Given the description of an element on the screen output the (x, y) to click on. 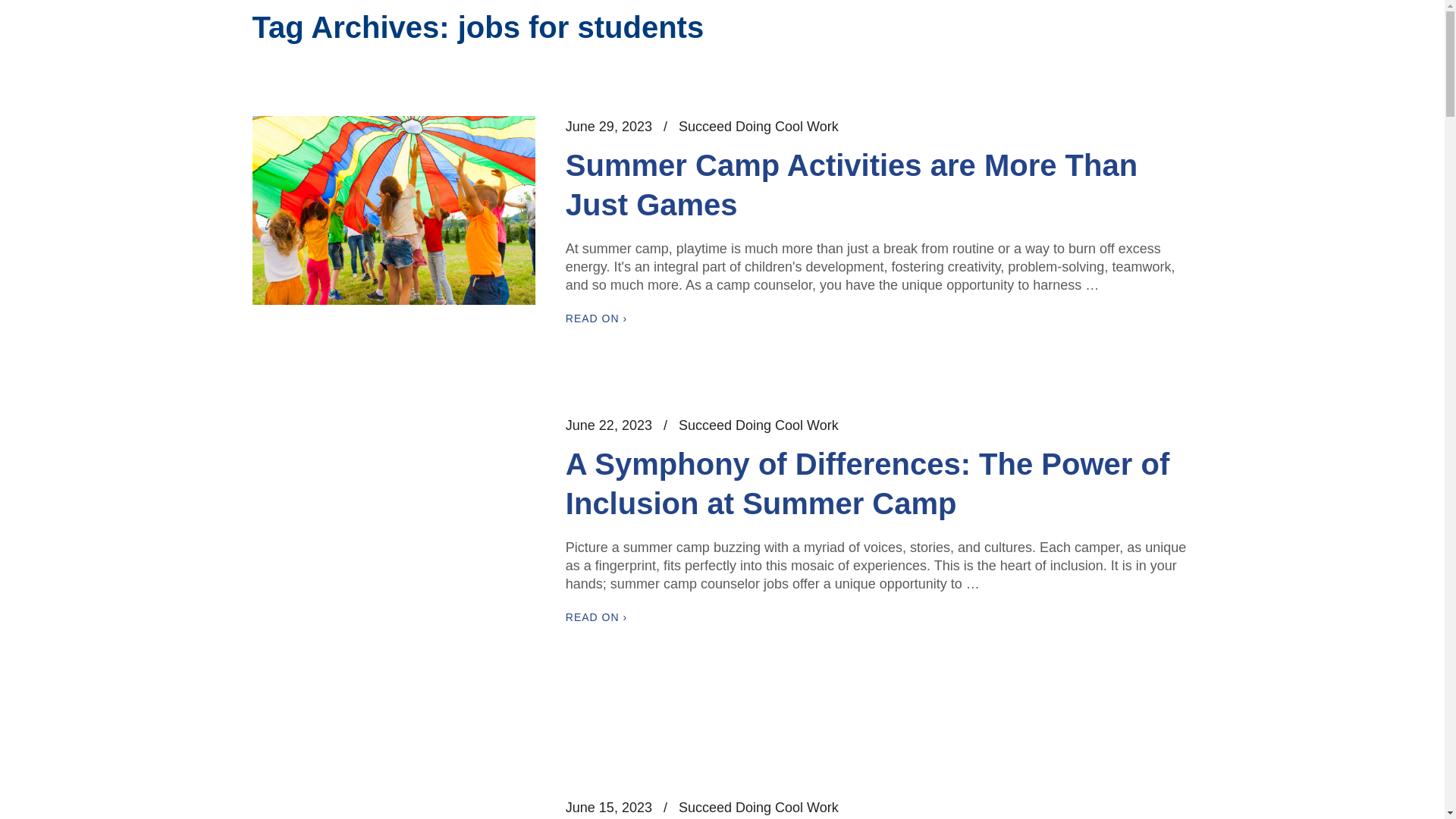
June 29, 2023 (609, 126)
June 22, 2023 (609, 425)
Summer Camp Activities are More Than Just Games (851, 184)
Permalink to Summer Camp Activities are More Than Just Games (609, 126)
Succeed Doing Cool Work (758, 126)
Succeed Doing Cool Work (758, 807)
June 15, 2023 (609, 807)
